Given the description of an element on the screen output the (x, y) to click on. 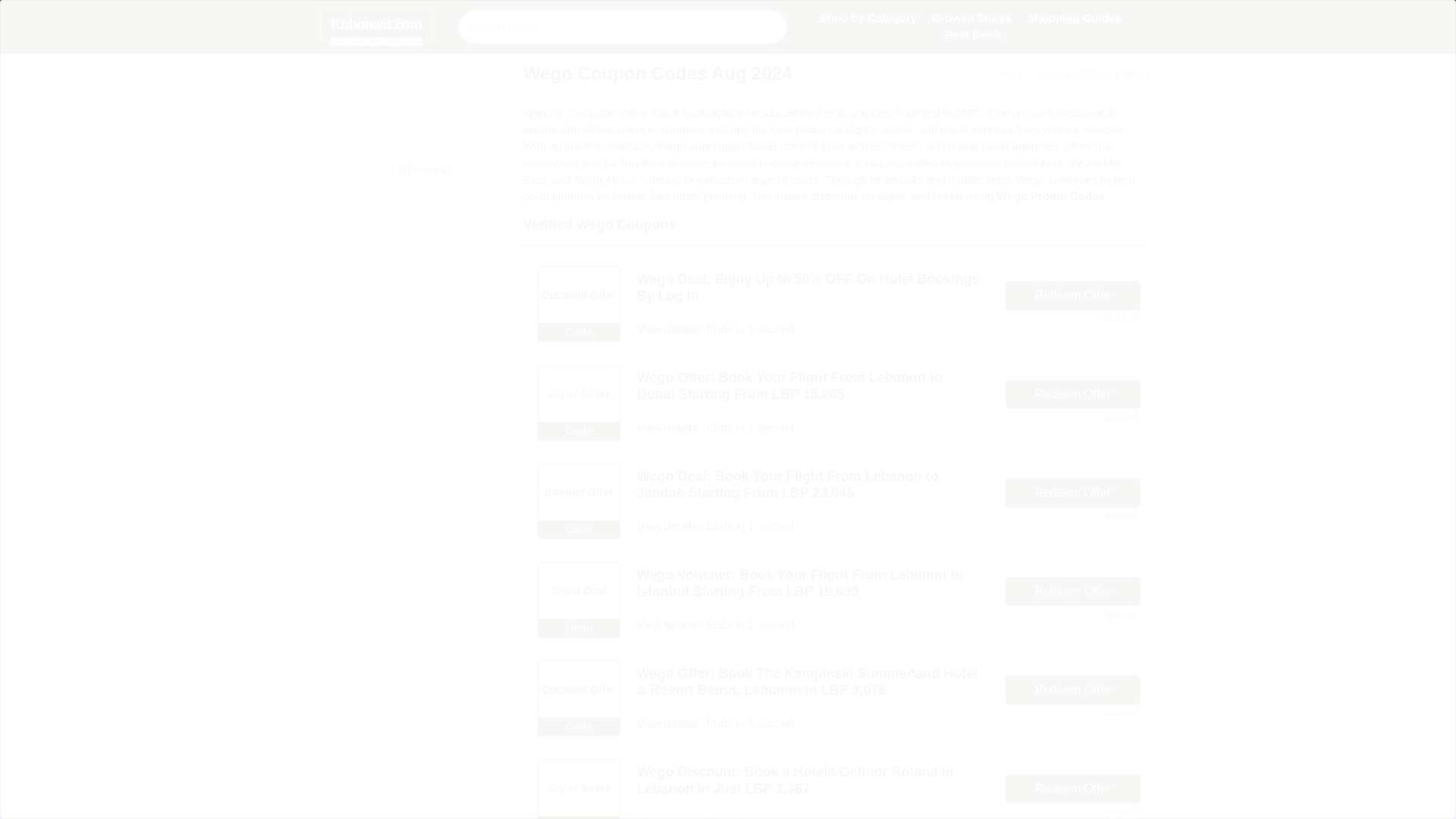
Home (1010, 73)
Kubonaat.com Lebanon (376, 26)
Wego Coupons (379, 108)
Wego (1128, 74)
View details (667, 328)
View details (667, 525)
Redeem Offer (1073, 492)
Redeem Offer (1073, 689)
View details (667, 722)
Redeem Offer (1073, 591)
